Given the description of an element on the screen output the (x, y) to click on. 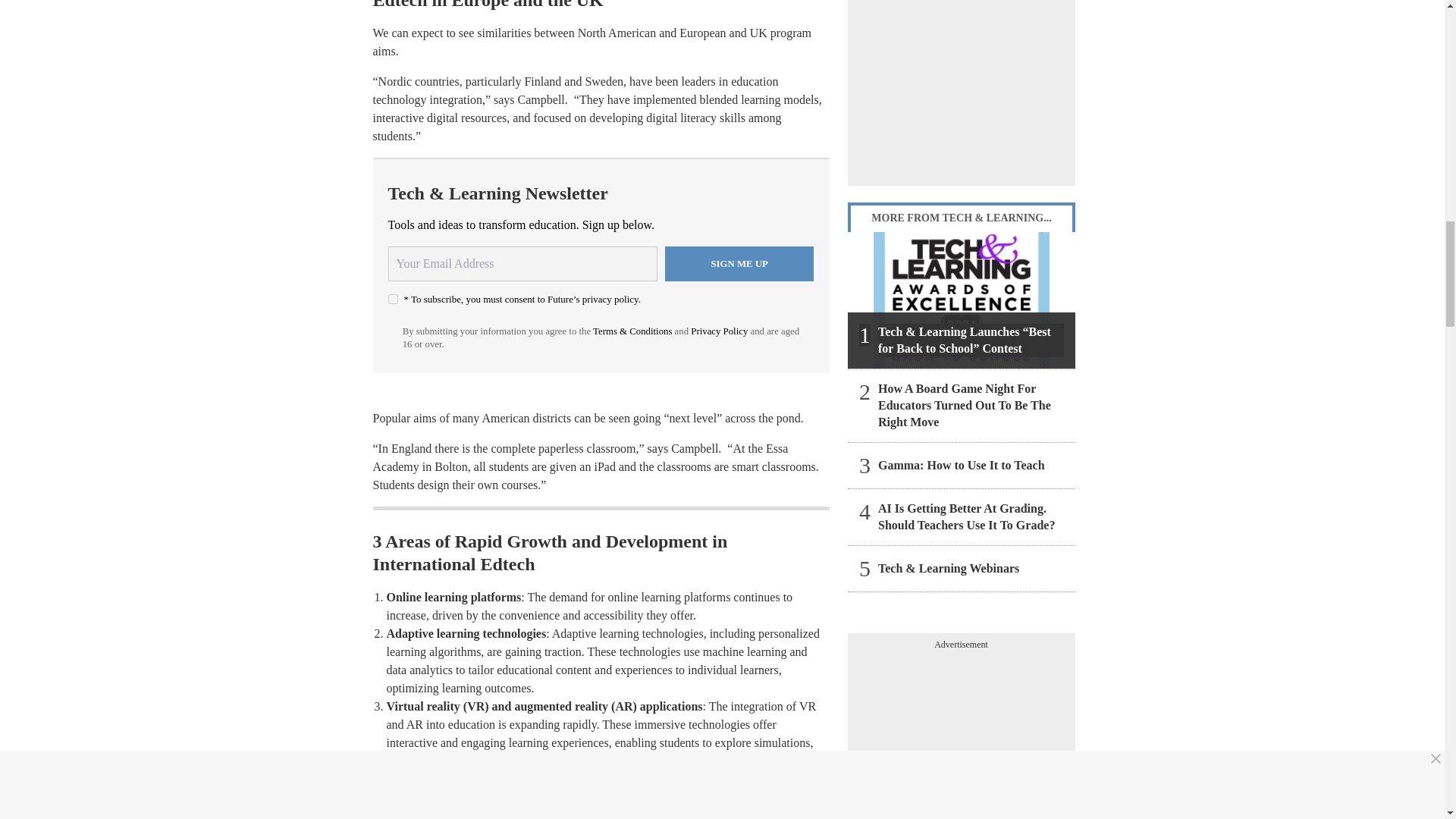
on (392, 298)
Sign me up (739, 263)
